Given the description of an element on the screen output the (x, y) to click on. 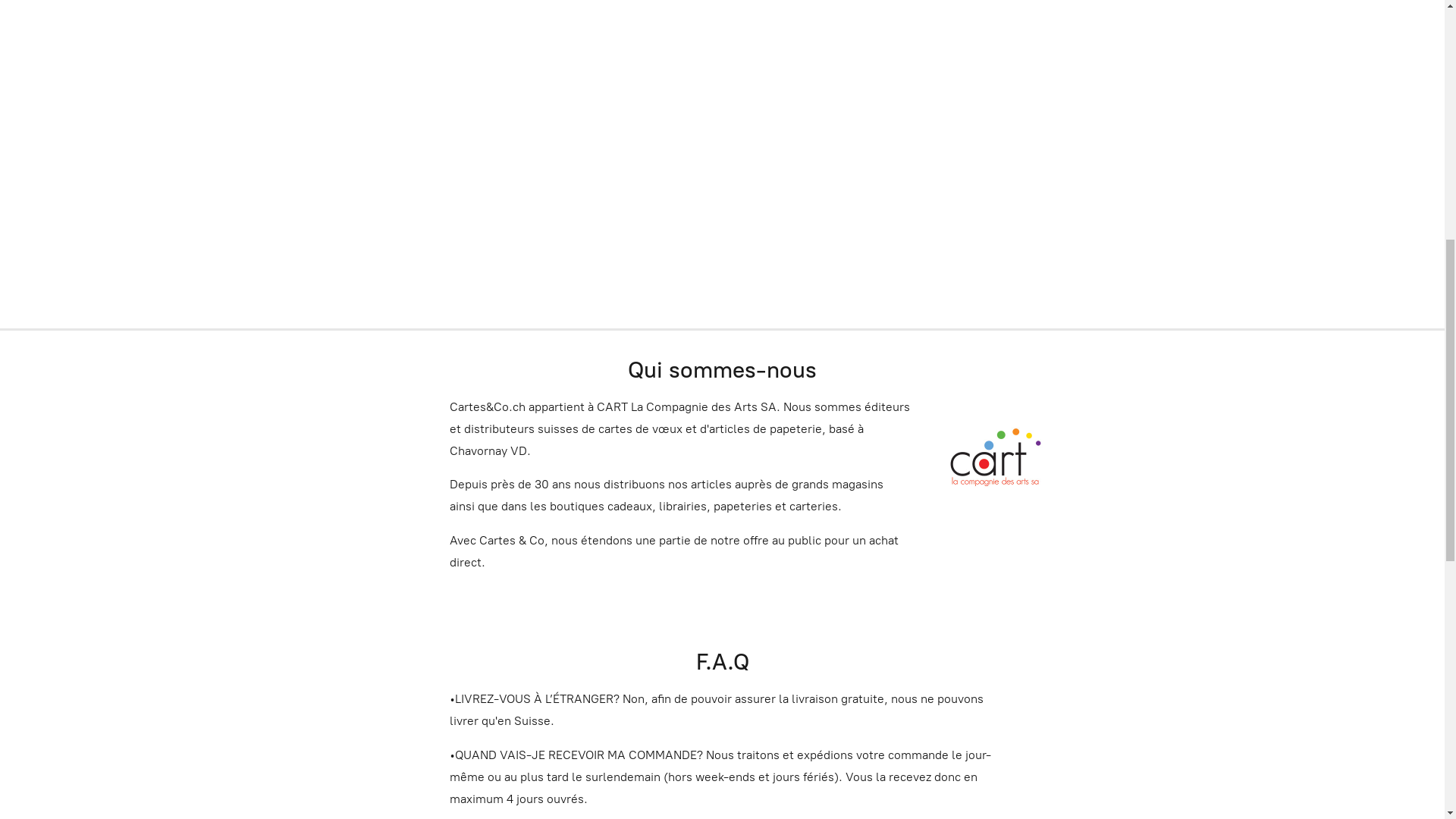
Contactez-nous Element type: text (231, 26)
Boutique Element type: text (53, 26)
